Given the description of an element on the screen output the (x, y) to click on. 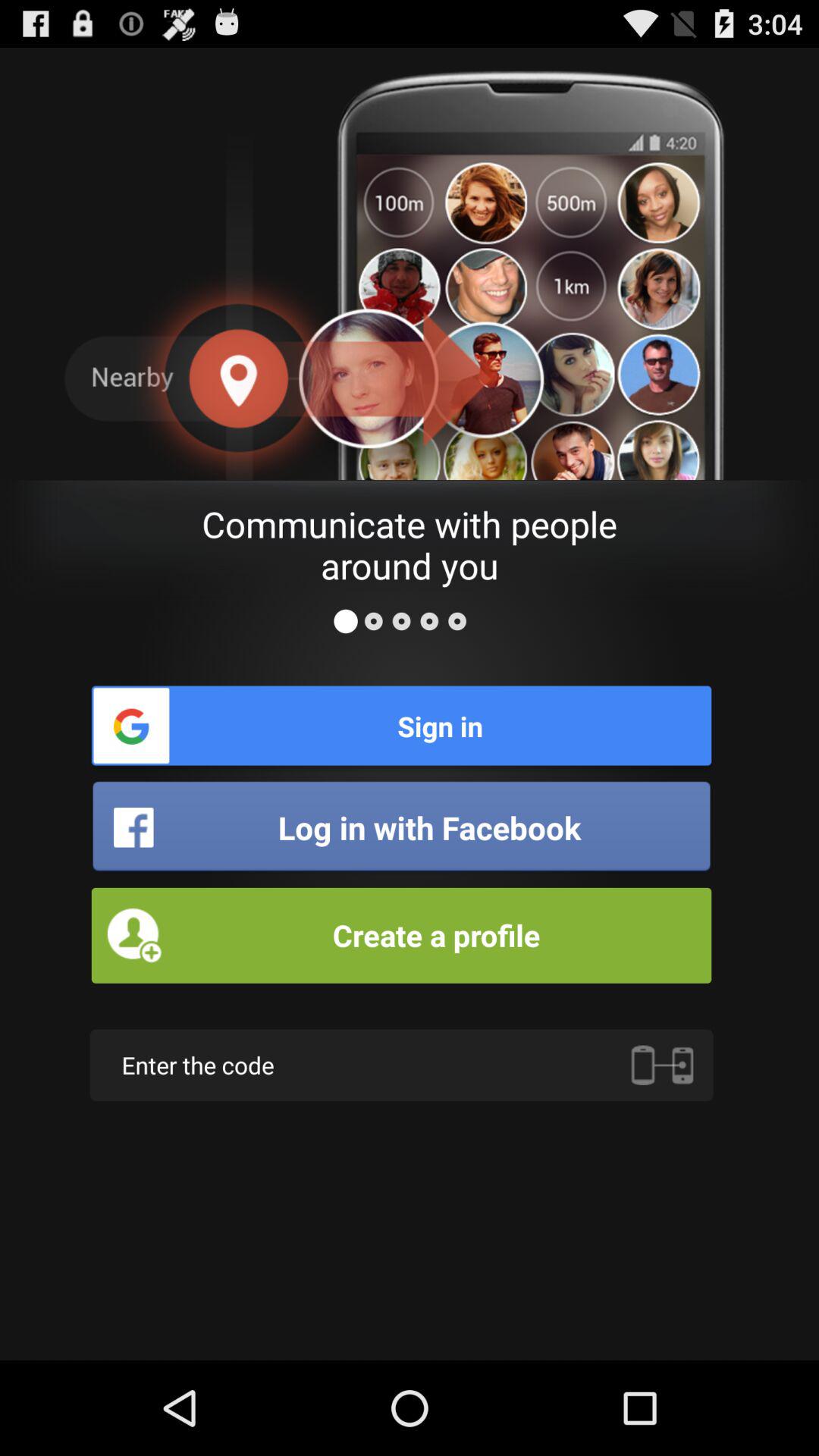
turn on the item below the sign in (401, 827)
